Given the description of an element on the screen output the (x, y) to click on. 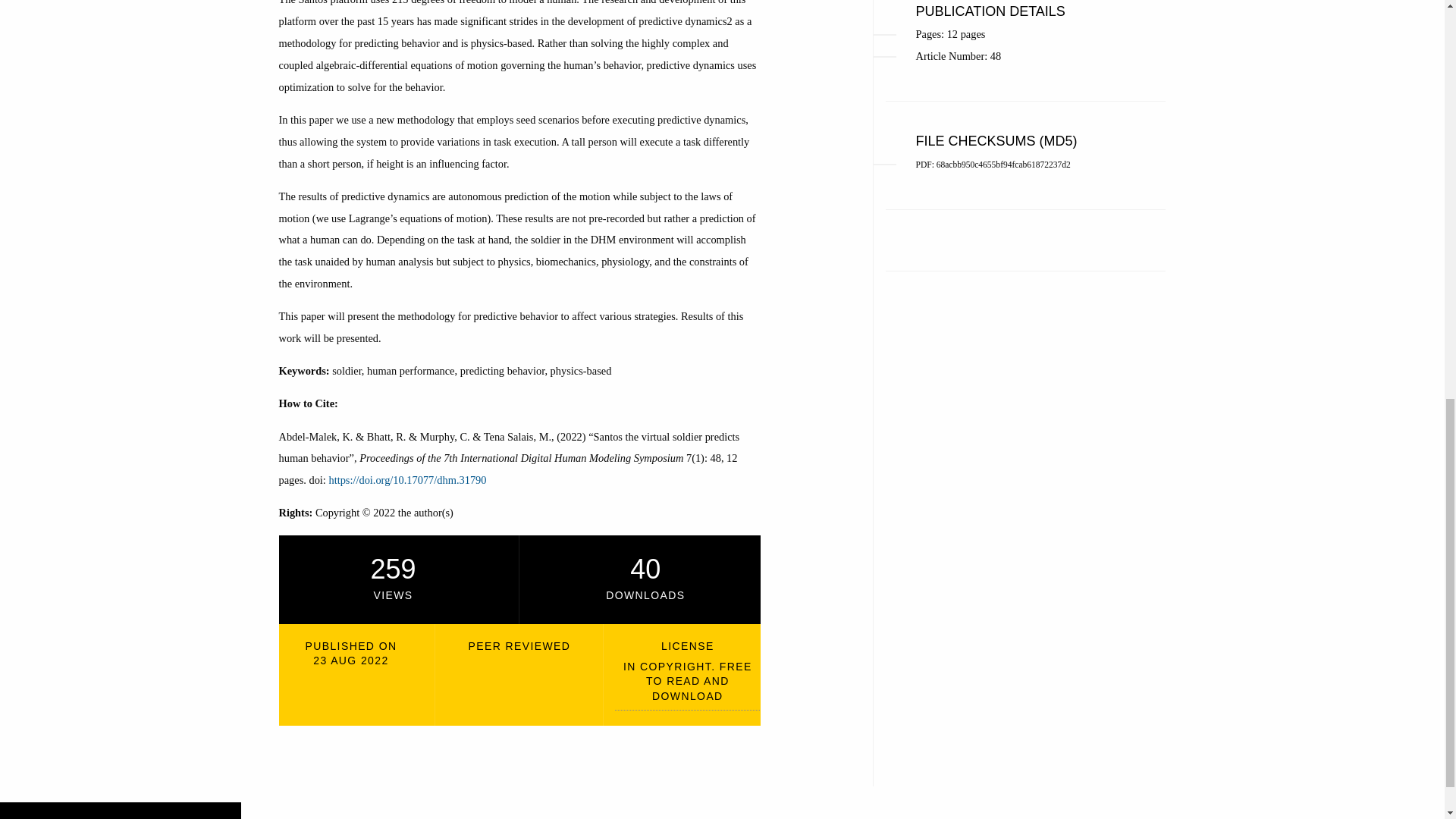
IN COPYRIGHT. FREE TO READ AND DOWNLOAD (687, 685)
Janeway-Logo-Final (120, 818)
IN COPYRIGHT. FREE TO READ AND DOWNLOAD (687, 685)
